Given the description of an element on the screen output the (x, y) to click on. 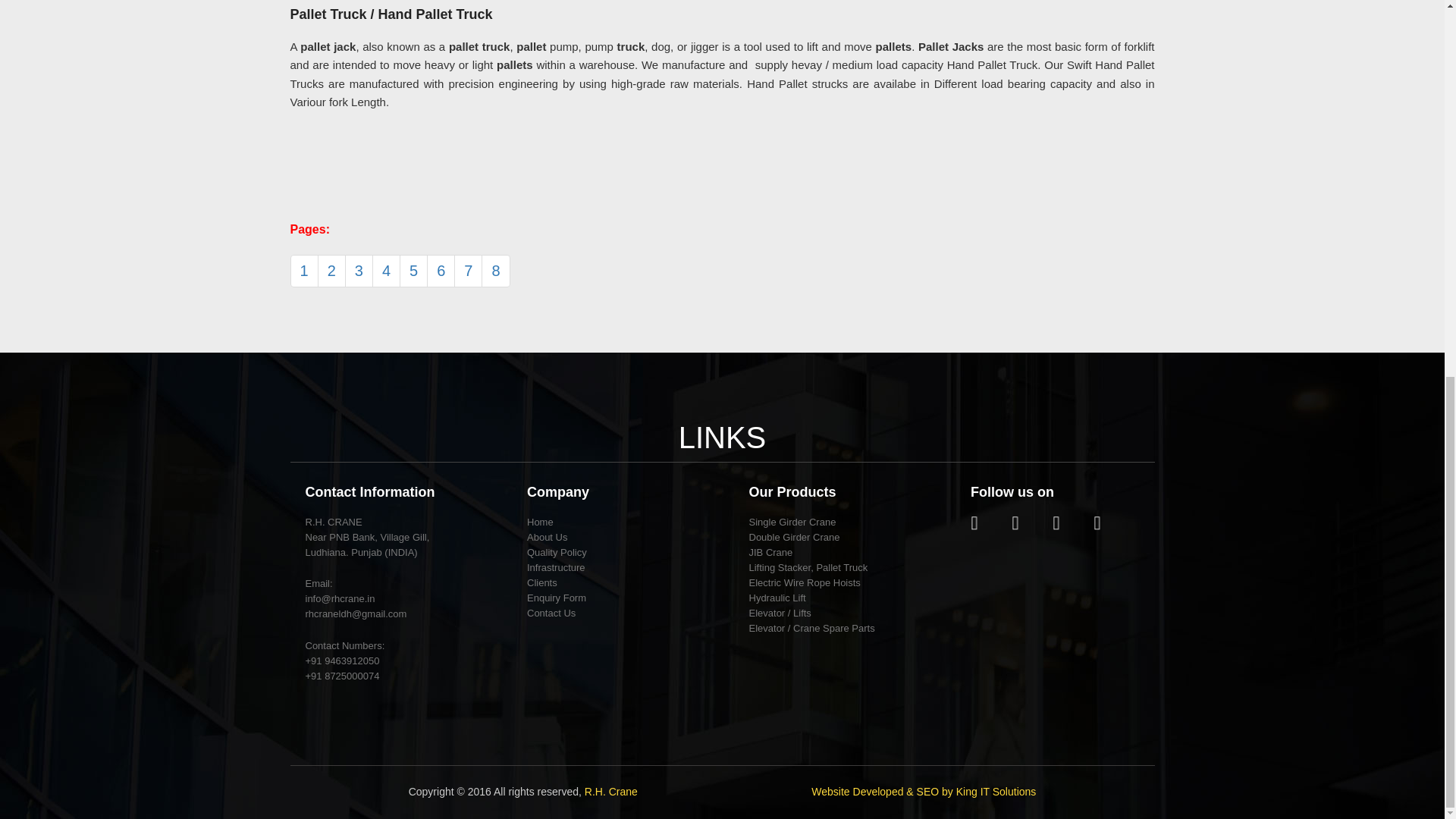
About Us (547, 536)
Contact Us (551, 613)
Electric Wire Rope Hoists (804, 582)
Enquiry Form (556, 597)
JIB Crane (771, 552)
Infrastructure (556, 567)
Double Girder Crane (794, 536)
Home (540, 521)
Lifting Stacker, Pallet Truck (808, 567)
Single Girder Crane (792, 521)
